Given the description of an element on the screen output the (x, y) to click on. 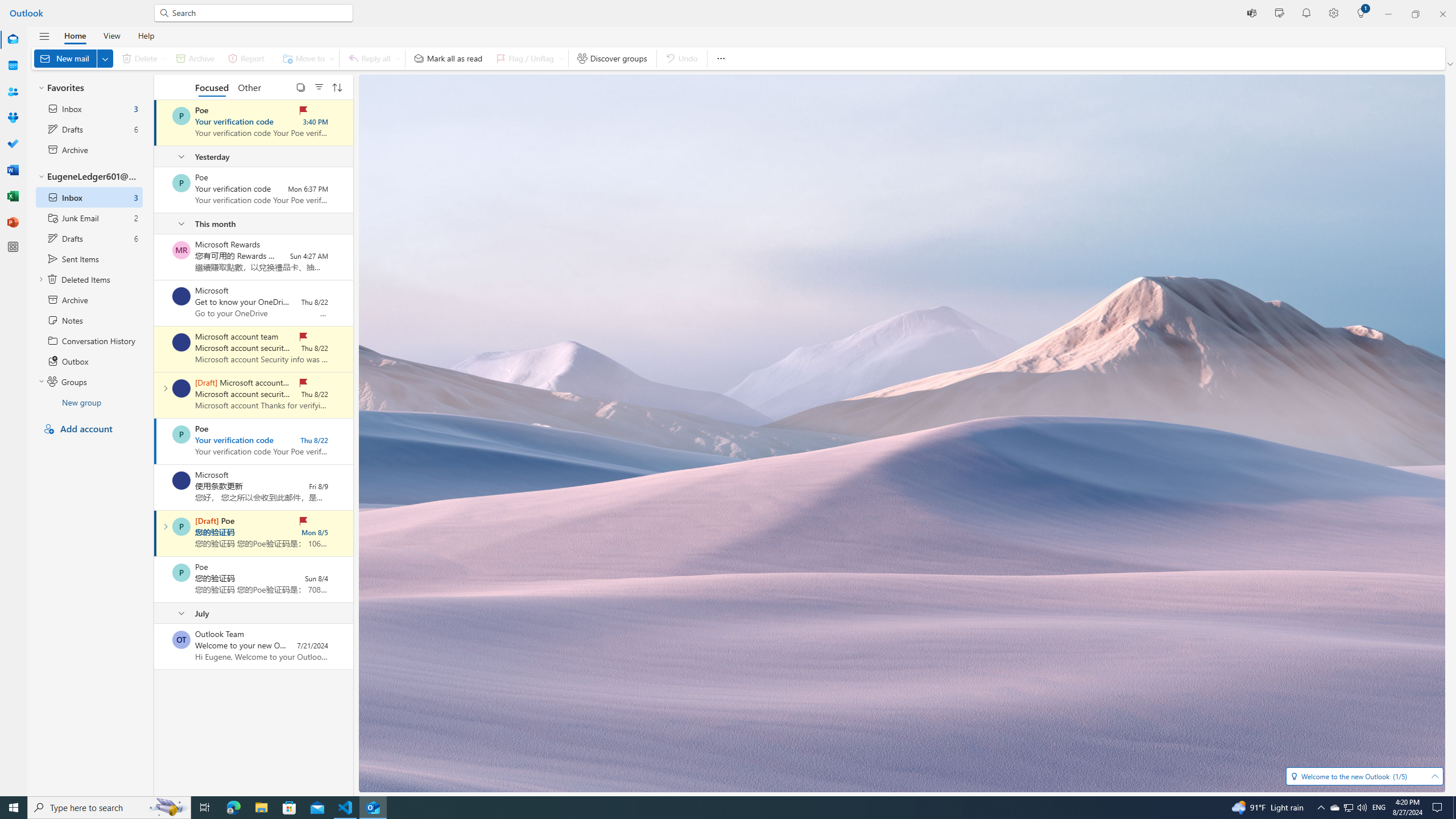
More apps (12, 246)
Running applications (706, 807)
Expand to see flag options (561, 58)
Undo (681, 58)
Filter (318, 86)
Select (300, 86)
Calendar (12, 65)
Deleted Items (89, 278)
